Given the description of an element on the screen output the (x, y) to click on. 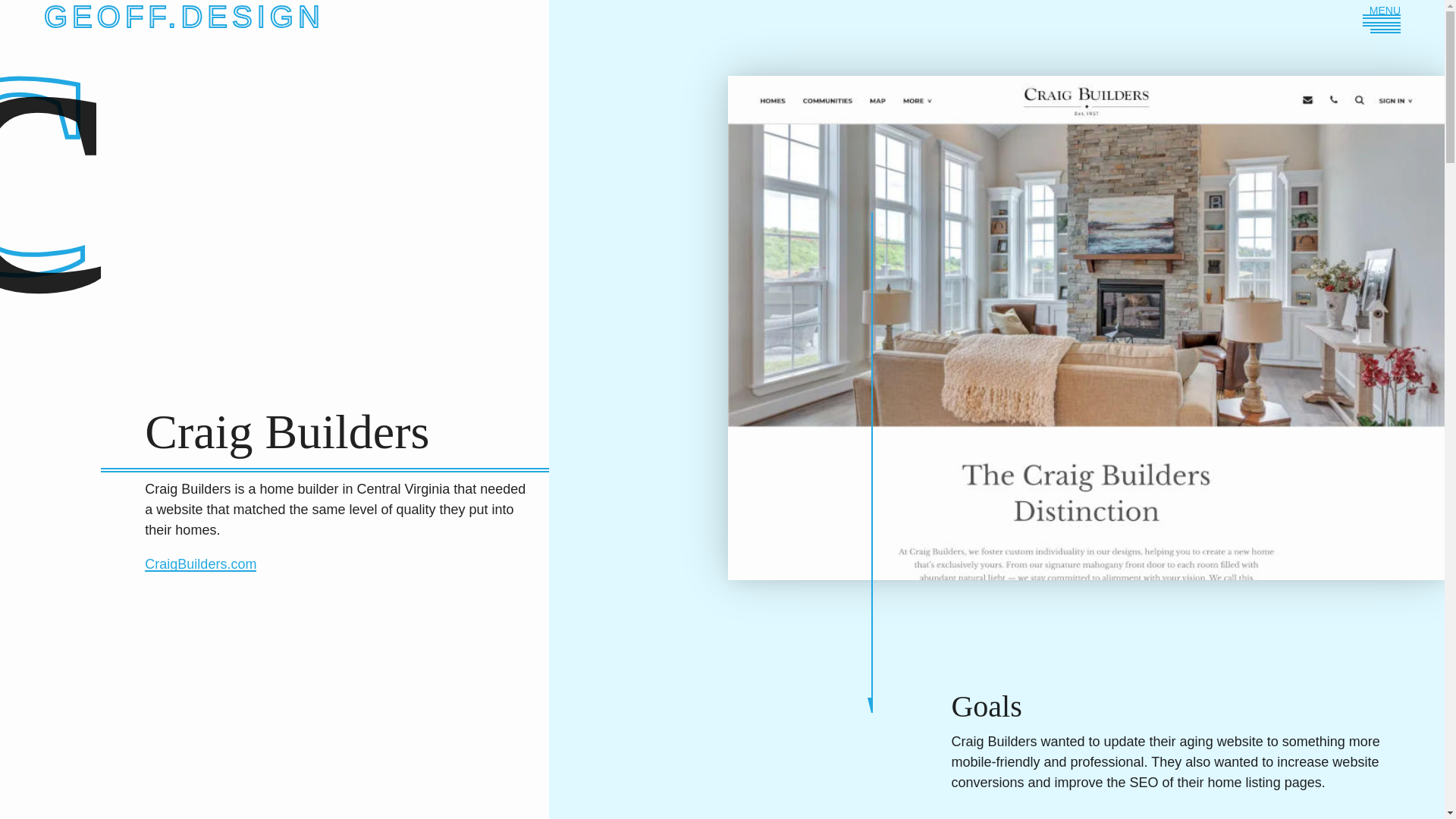
CraigBuilders.com (200, 563)
GEOFF.DESIGN (183, 22)
